Given the description of an element on the screen output the (x, y) to click on. 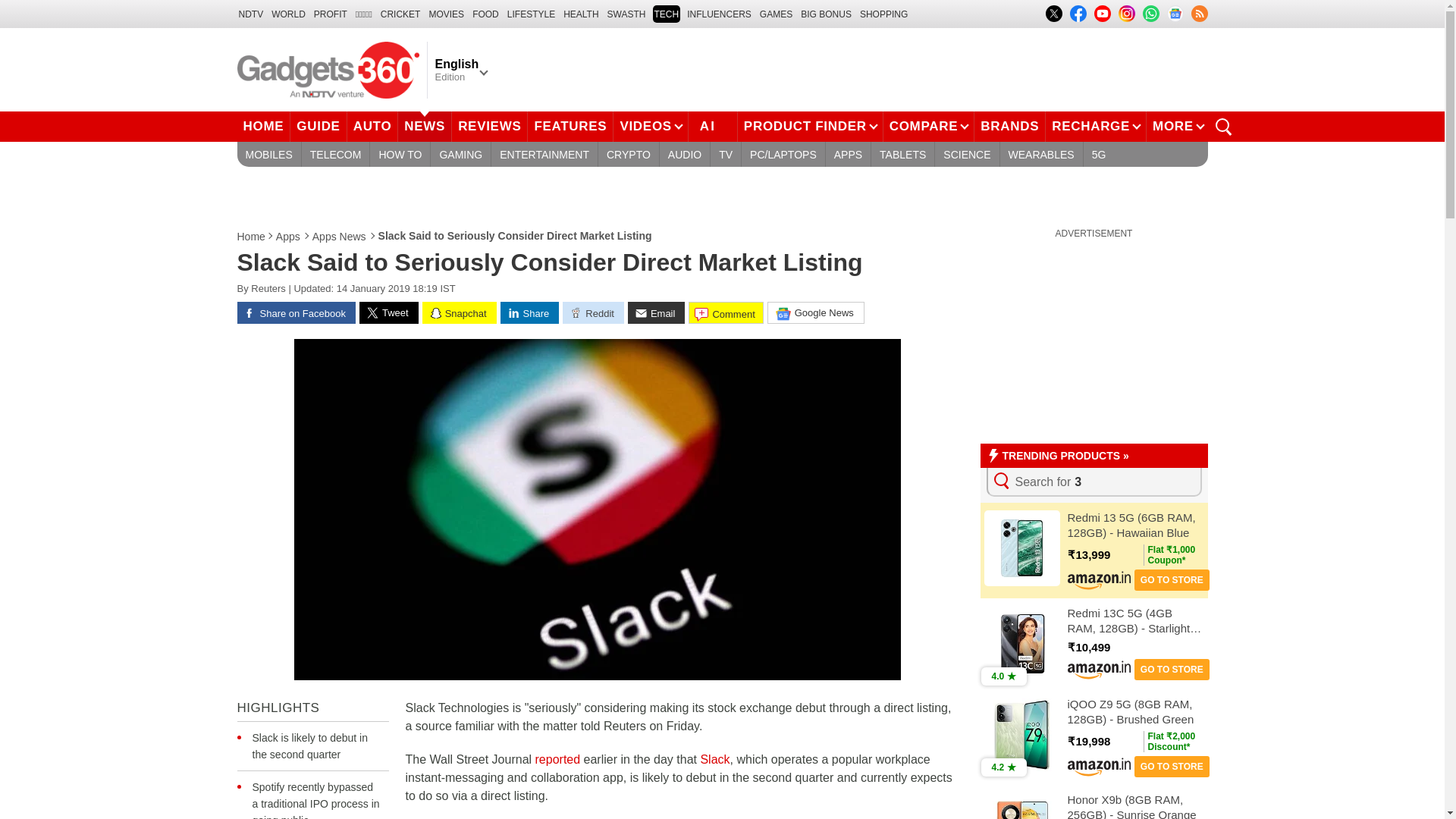
HEALTH (580, 13)
Influencers (718, 13)
NDTV (249, 13)
MOVIES (445, 13)
HEALTH (580, 13)
SHOPPING (883, 13)
Cricket (400, 13)
PROFIT (331, 13)
LIFESTYLE (530, 13)
SHOPPING (883, 13)
BIG BONUS (826, 13)
LIFESTYLE (530, 13)
World (288, 13)
Gadgets 360 (327, 68)
FOOD (485, 13)
